Given the description of an element on the screen output the (x, y) to click on. 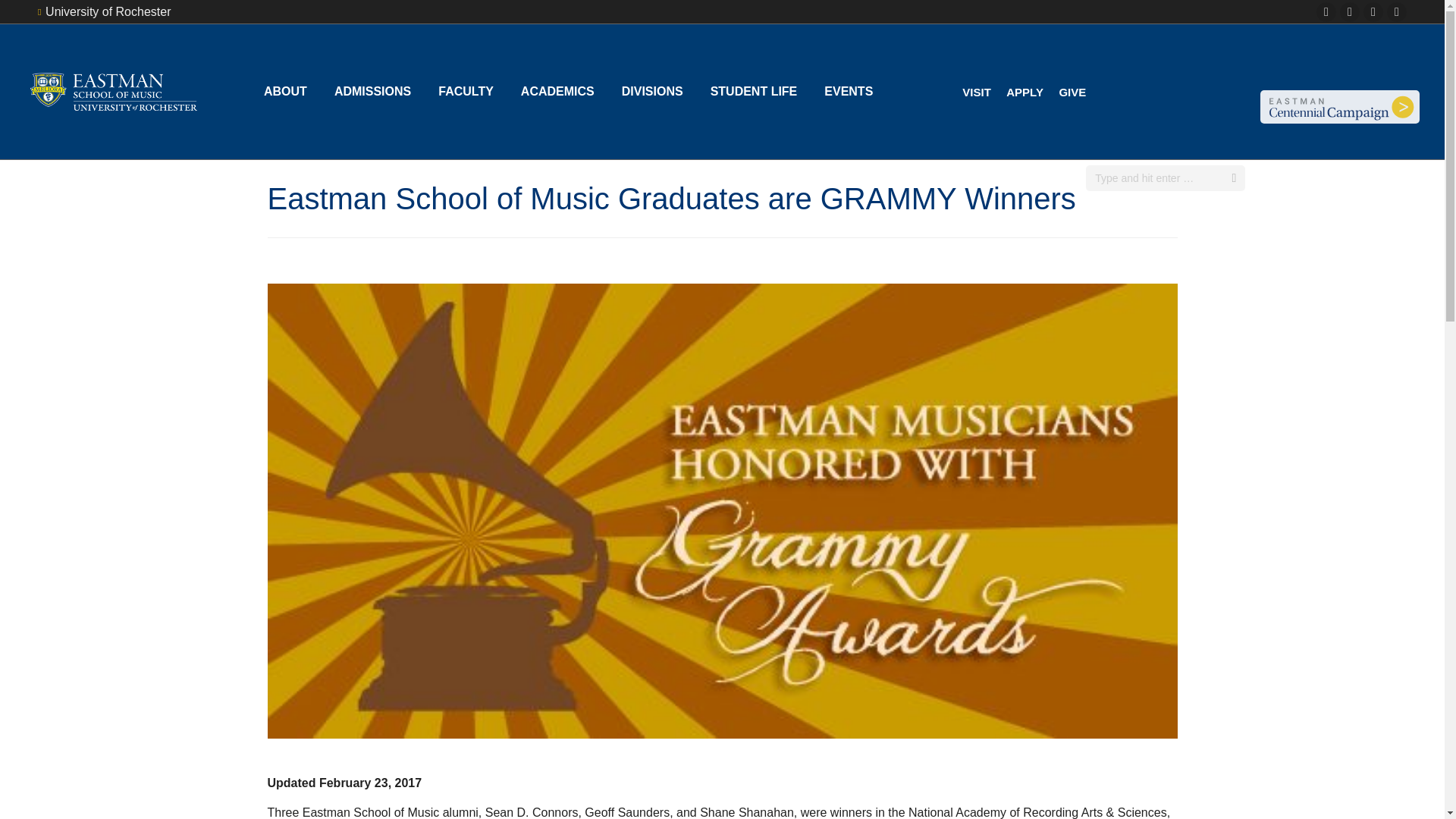
Instagram page opens in new window (1349, 12)
Facebook page opens in new window (1326, 12)
Search form (1165, 177)
Linkedin page opens in new window (1372, 12)
Facebook page opens in new window (1326, 12)
YouTube page opens in new window (1396, 12)
University of Rochester (103, 12)
Linkedin page opens in new window (1372, 12)
YouTube page opens in new window (1396, 12)
Instagram page opens in new window (1349, 12)
